Given the description of an element on the screen output the (x, y) to click on. 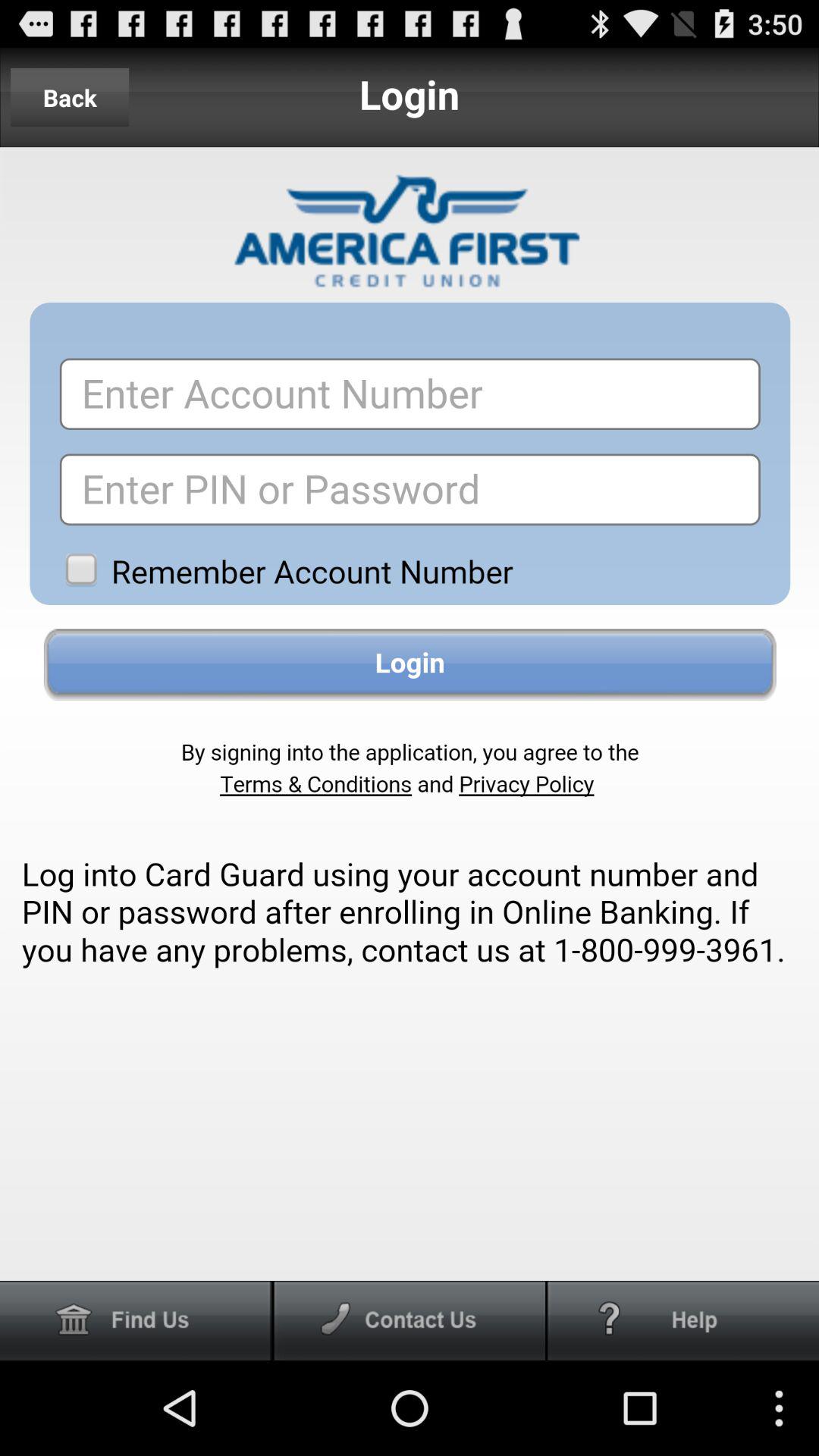
credit union login screen (409, 713)
